Given the description of an element on the screen output the (x, y) to click on. 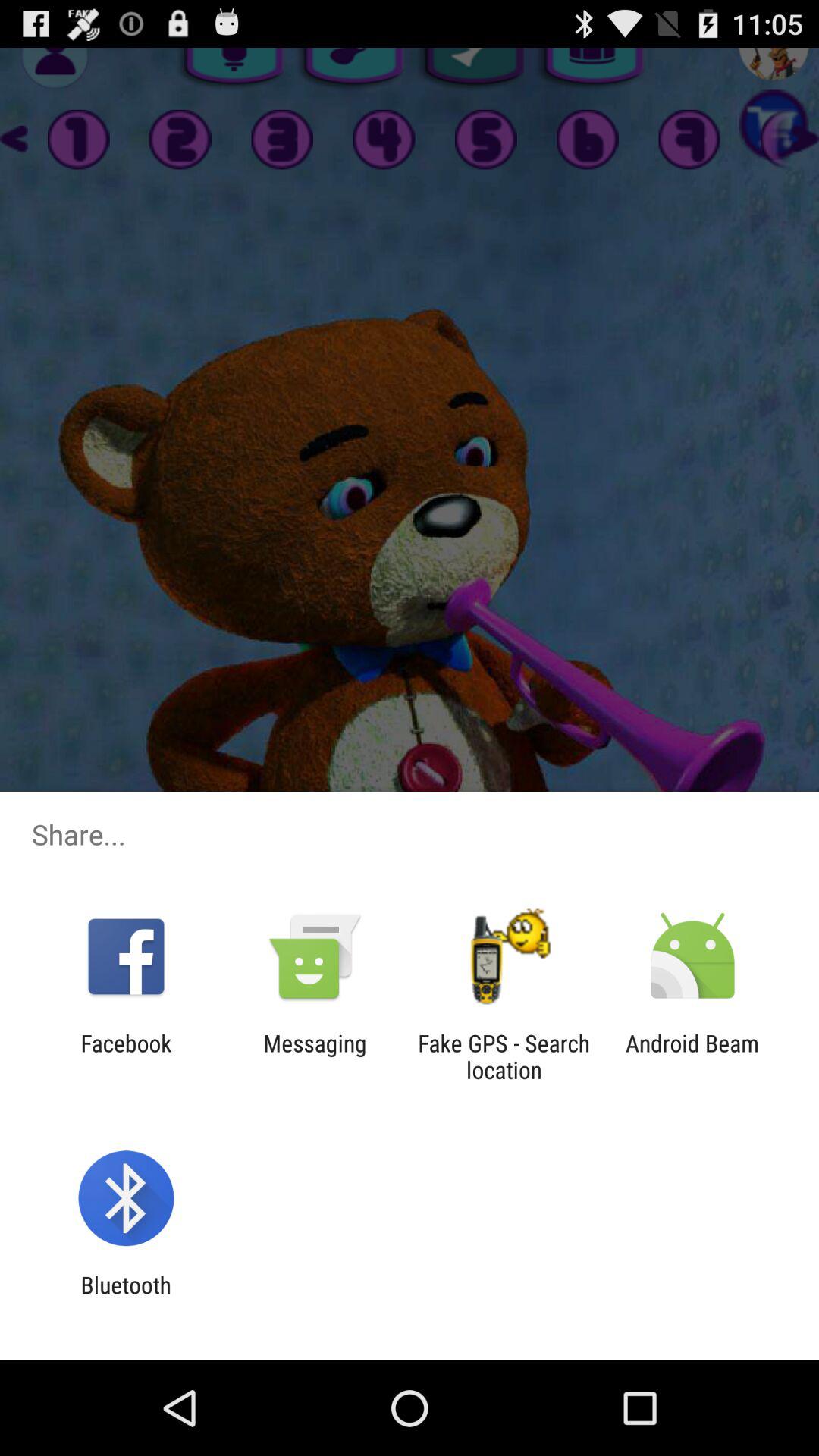
choose icon to the right of the messaging app (503, 1056)
